Given the description of an element on the screen output the (x, y) to click on. 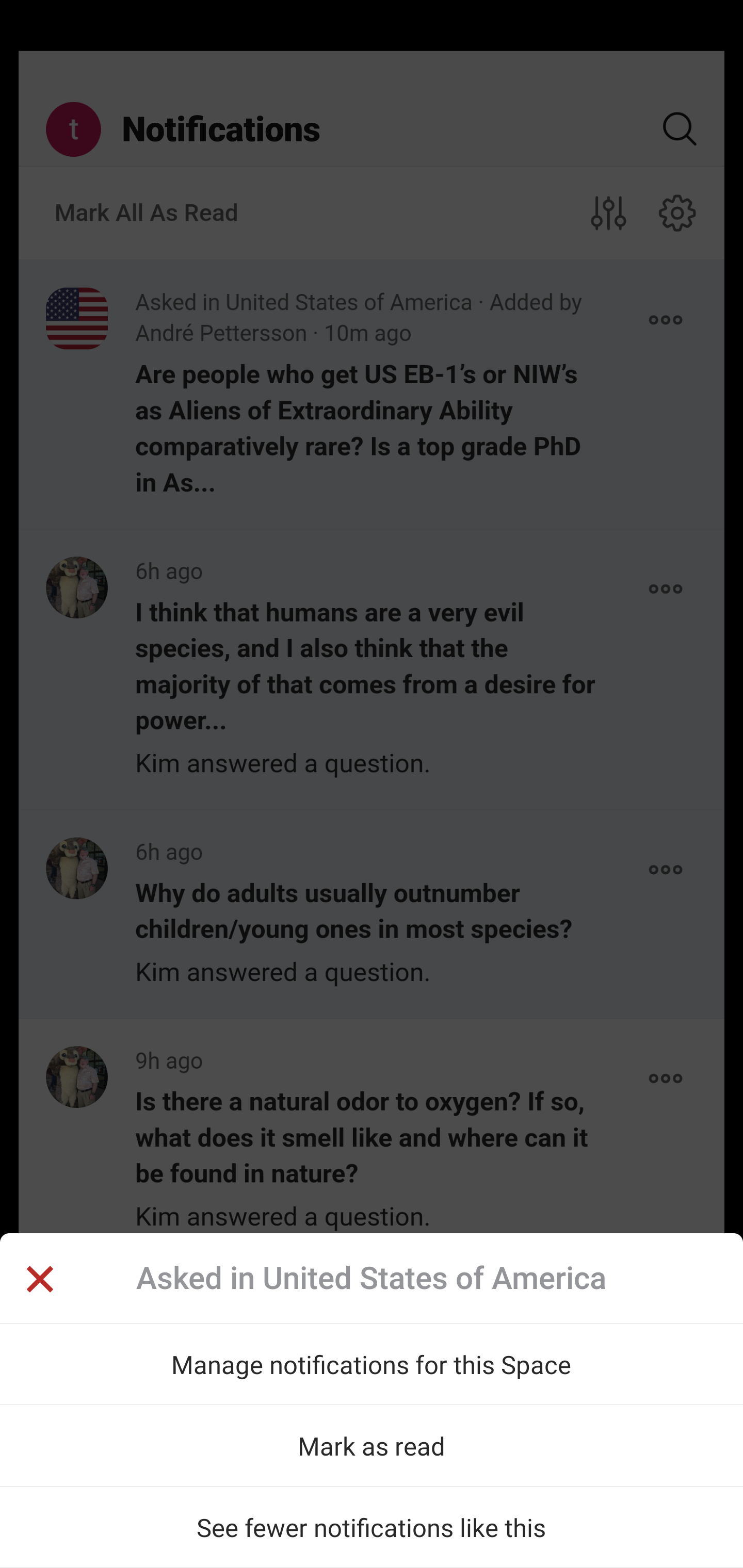
 Asked in United States of America (371, 1278)
 (39, 1280)
Manage notifications for this Space (371, 1363)
Mark as read (371, 1445)
See fewer notifications like this (371, 1527)
